Given the description of an element on the screen output the (x, y) to click on. 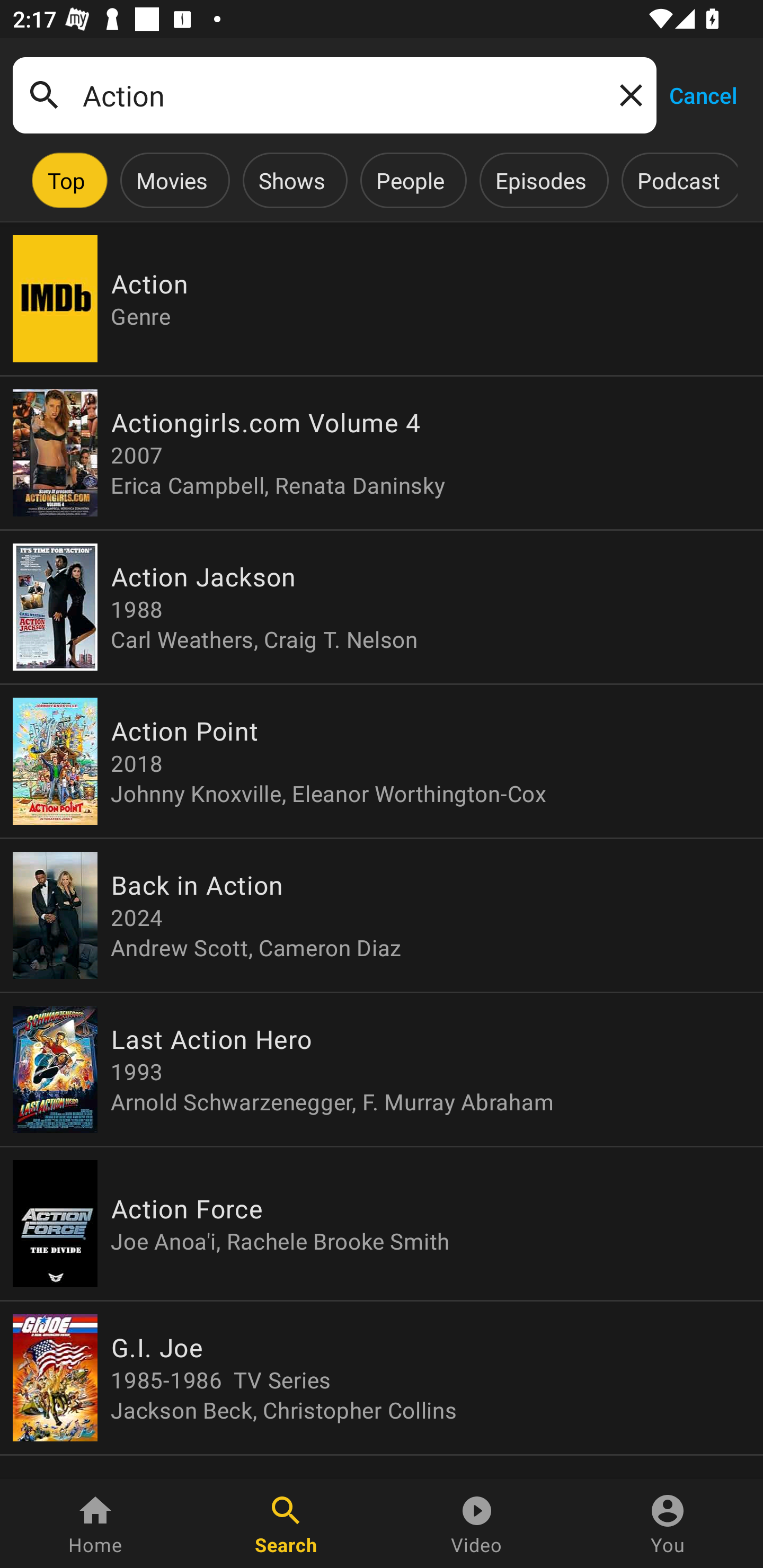
Clear query (627, 94)
Cancel (703, 94)
Action (334, 95)
Top (66, 180)
Movies (171, 180)
Shows (291, 180)
People (410, 180)
Episodes (540, 180)
Podcast (678, 180)
Action Genre (381, 298)
Action Jackson 1988 Carl Weathers, Craig T. Nelson (381, 607)
Back in Action 2024 Andrew Scott, Cameron Diaz (381, 914)
Action Force Joe Anoa'i, Rachele Brooke Smith (381, 1223)
Home (95, 1523)
Video (476, 1523)
You (667, 1523)
